Given the description of an element on the screen output the (x, y) to click on. 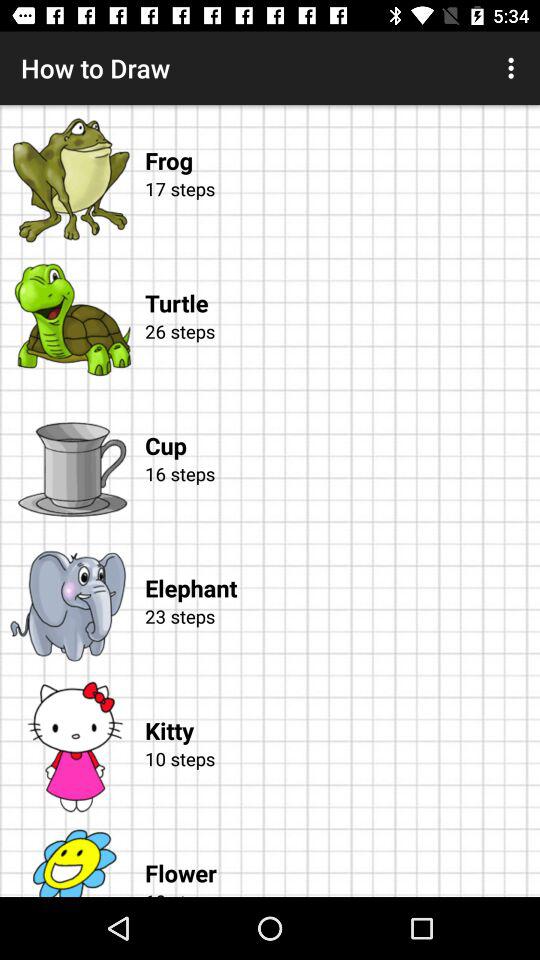
press the icon above the frog icon (513, 67)
